Given the description of an element on the screen output the (x, y) to click on. 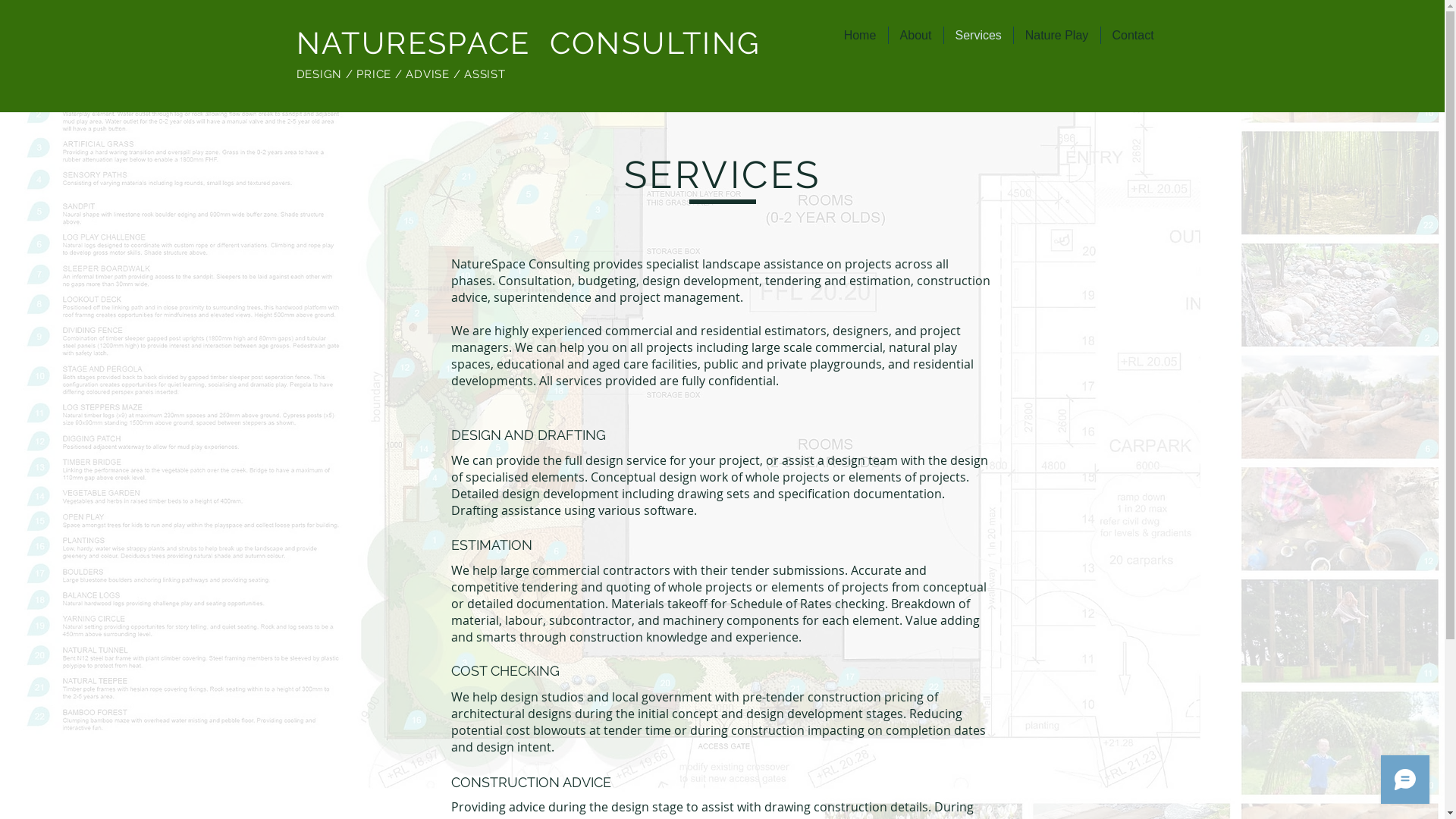
About Element type: text (915, 34)
Services Element type: text (977, 34)
Home Element type: text (860, 34)
Contact Element type: text (1133, 34)
NATURESPACE  CONSULTING Element type: text (527, 42)
Nature Play Element type: text (1056, 34)
